Given the description of an element on the screen output the (x, y) to click on. 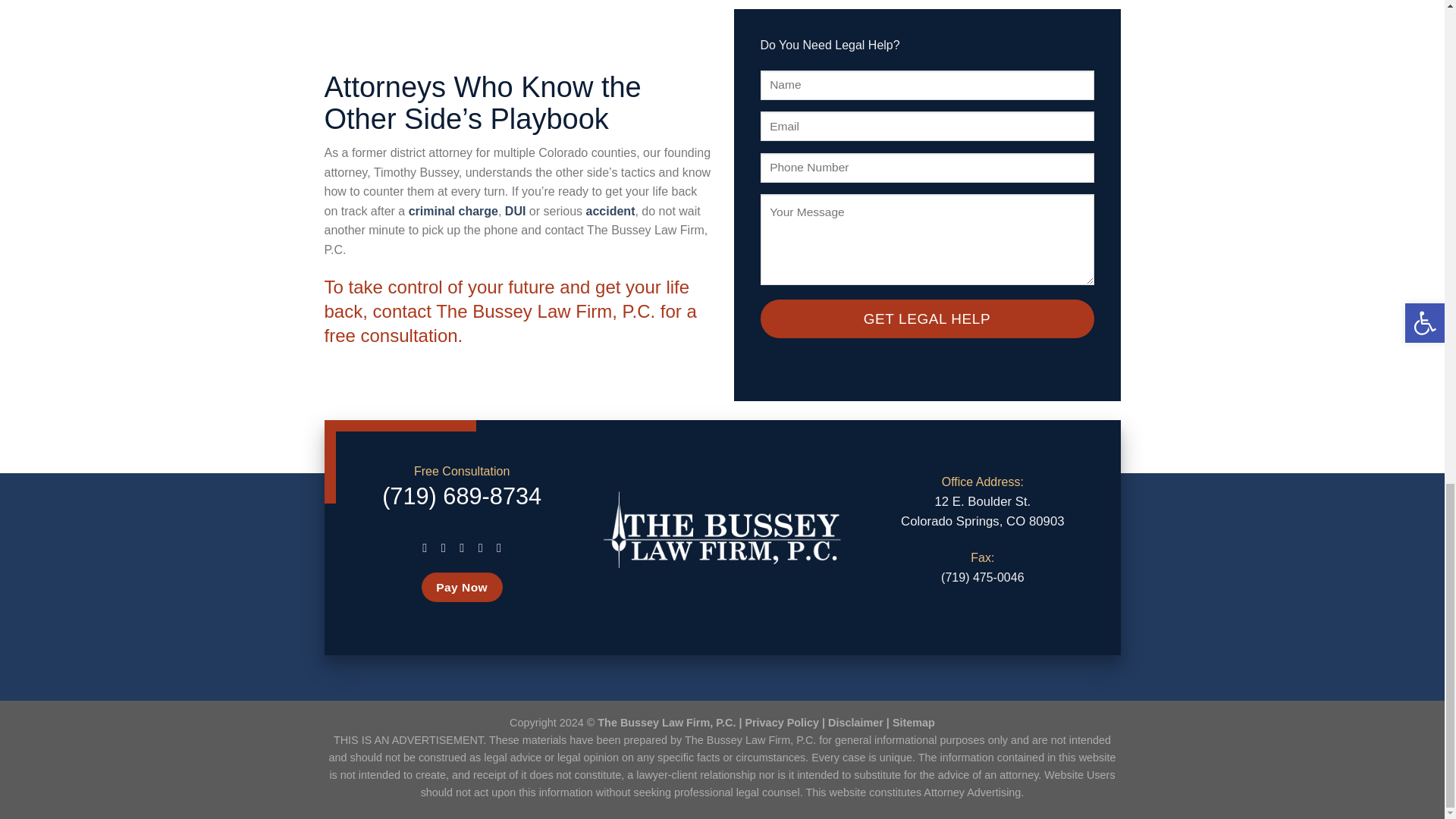
Follow on Twitter (461, 547)
Follow on YouTube (499, 547)
Follow on LinkedIn (480, 547)
Follow on Facebook (424, 547)
Get Legal Help (926, 319)
Follow on Instagram (443, 547)
